Given the description of an element on the screen output the (x, y) to click on. 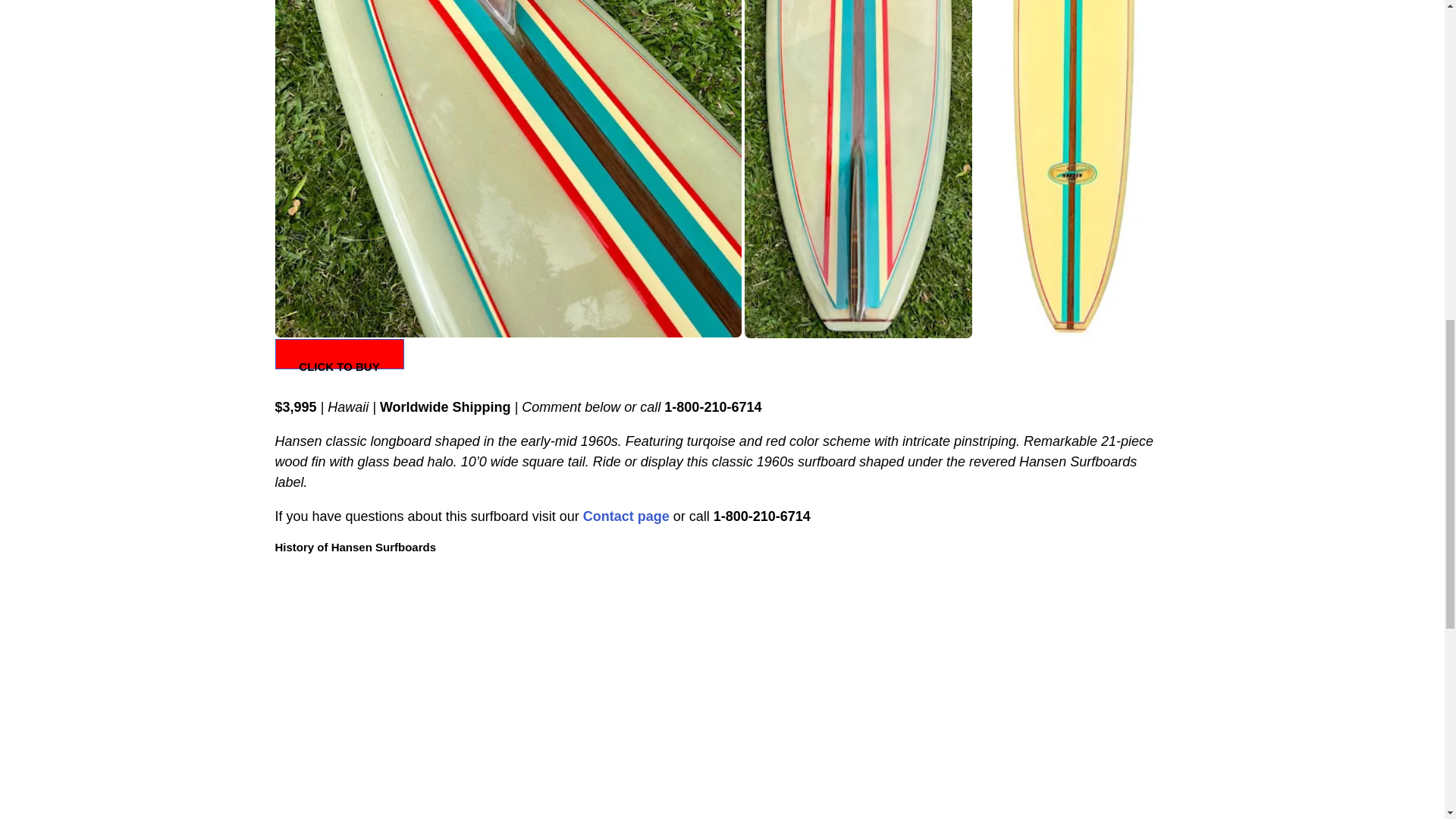
CLICK TO BUY (339, 365)
Contact page (626, 516)
CLICK TO BUY (339, 354)
